Given the description of an element on the screen output the (x, y) to click on. 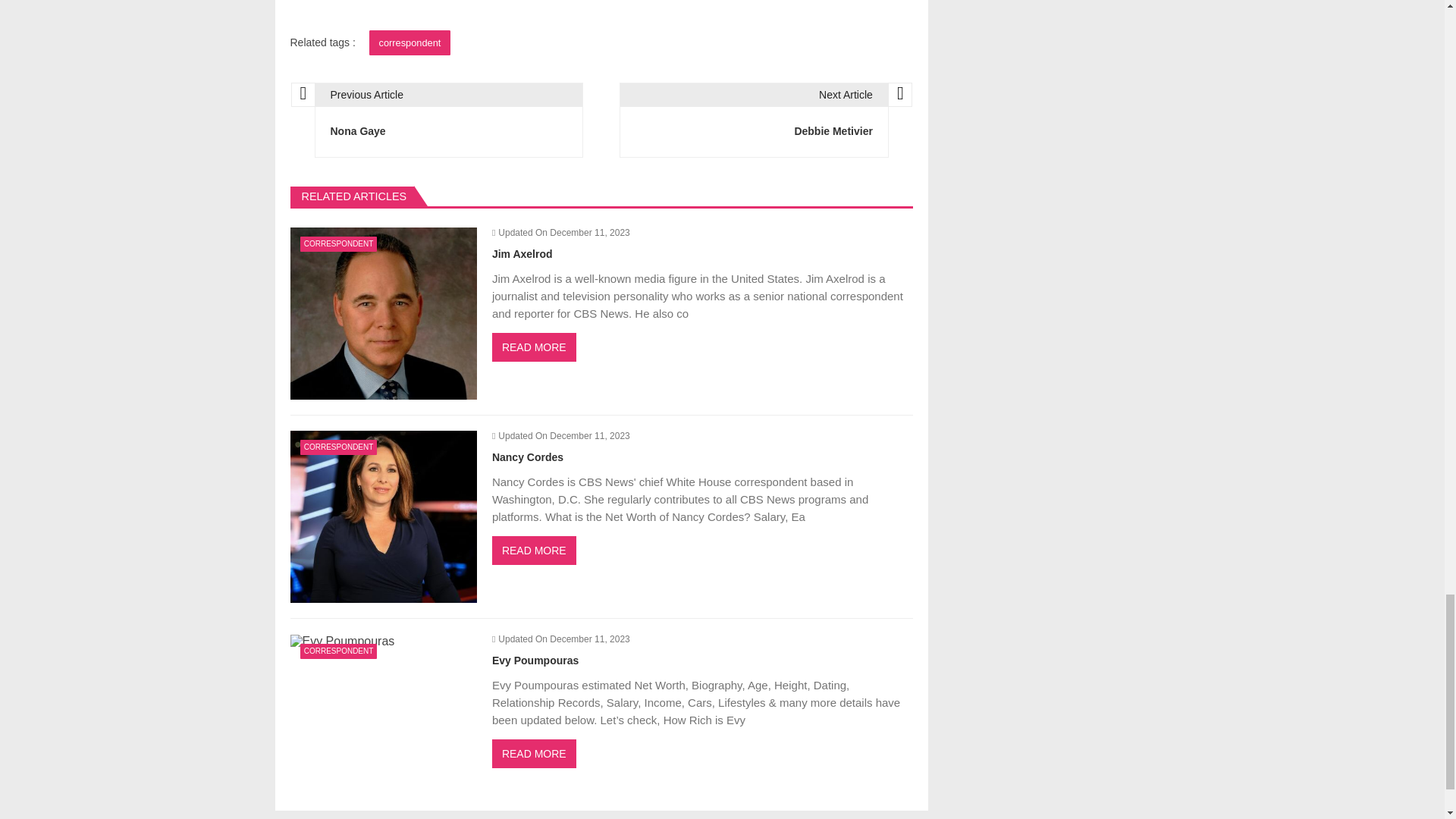
Evy Poumpouras (341, 641)
Jim Axelrod (382, 313)
Nancy Cordes (382, 516)
